Given the description of an element on the screen output the (x, y) to click on. 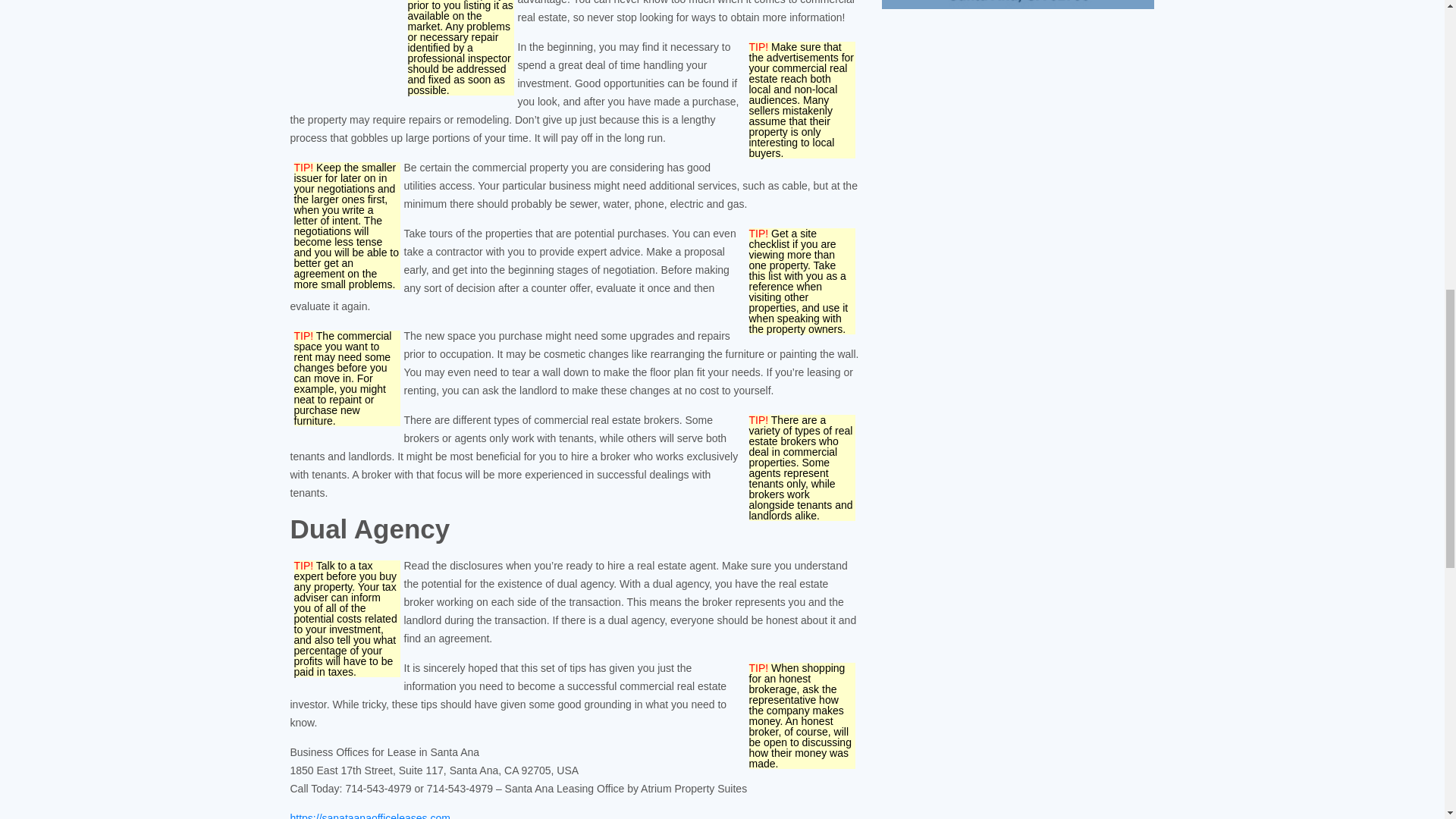
Business Offices for Lease in Santa Ana (369, 815)
